Given the description of an element on the screen output the (x, y) to click on. 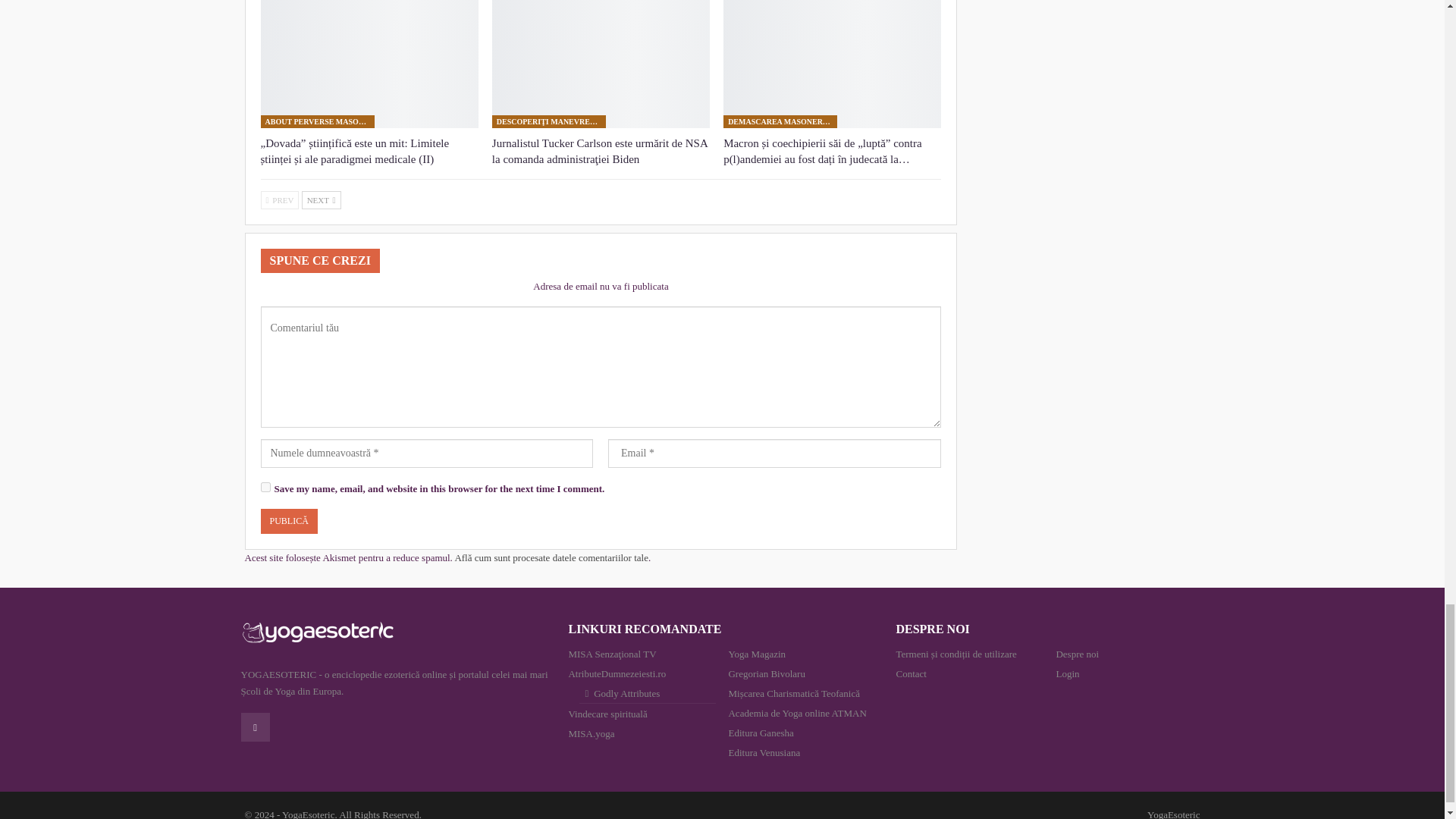
yes (265, 487)
